Given the description of an element on the screen output the (x, y) to click on. 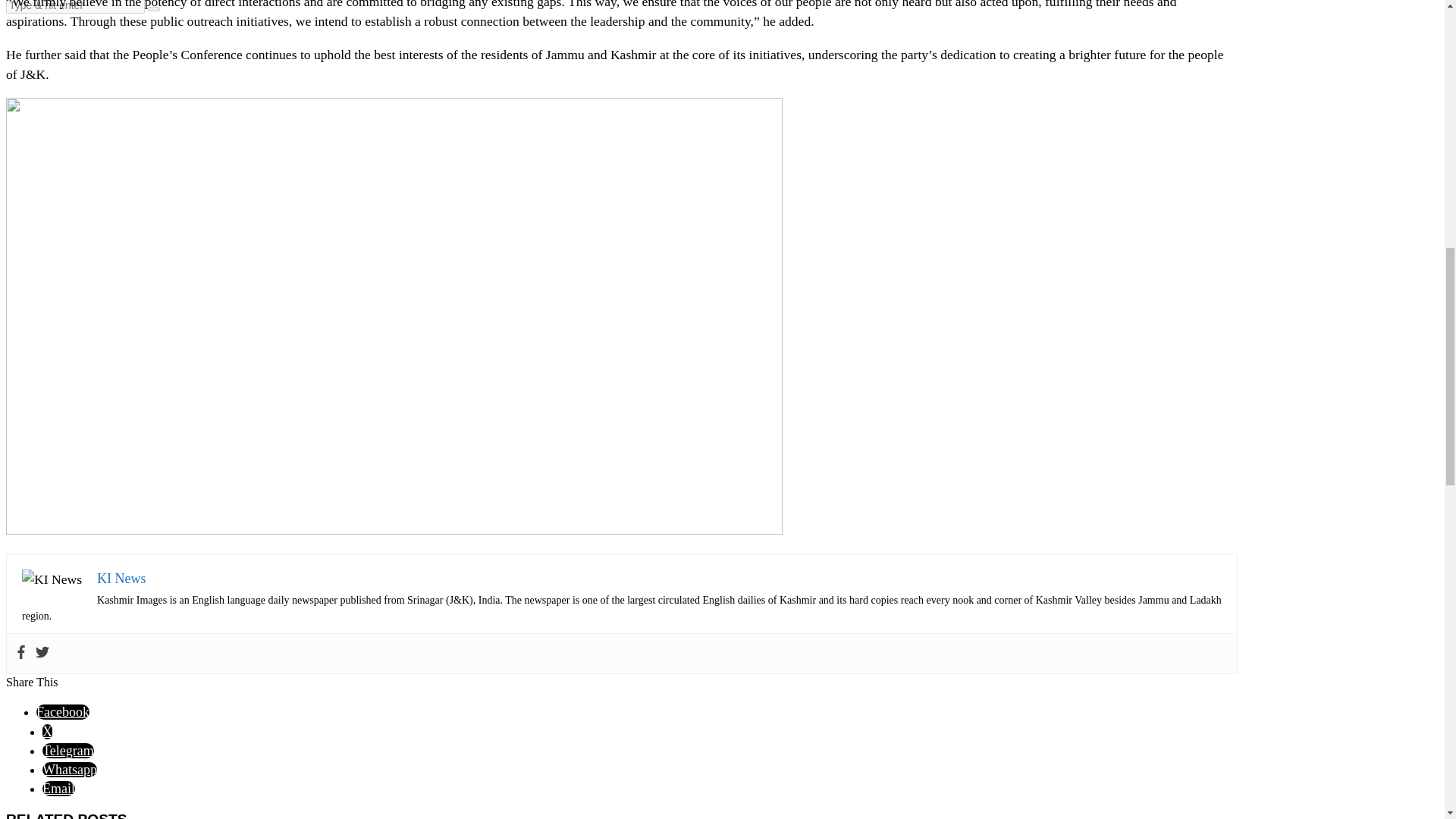
X (47, 731)
Telegram (68, 750)
Twitter (41, 653)
Whatsapp (69, 769)
Facebook (20, 653)
Go (154, 8)
KI News (122, 578)
Email (58, 788)
Facebook (62, 711)
